Given the description of an element on the screen output the (x, y) to click on. 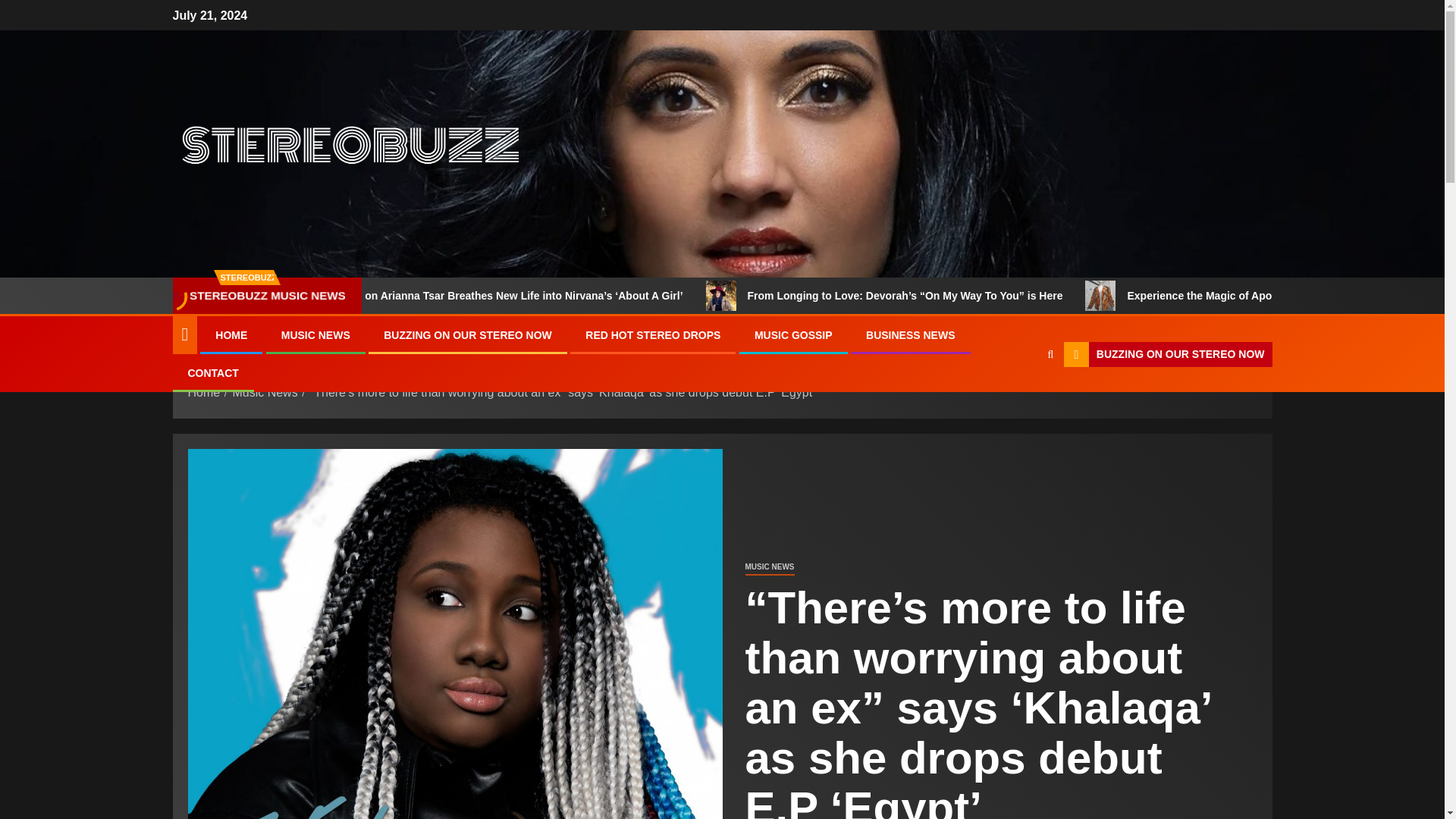
BUSINESS NEWS (910, 335)
CONTACT (212, 372)
MUSIC GOSSIP (793, 335)
MUSIC NEWS (315, 335)
Music News (264, 391)
HOME (231, 335)
BUZZING ON OUR STEREO NOW (1168, 354)
BUZZING ON OUR STEREO NOW (467, 335)
Search (1020, 400)
Home (204, 391)
MUSIC NEWS (768, 567)
RED HOT STEREO DROPS (652, 335)
